Given the description of an element on the screen output the (x, y) to click on. 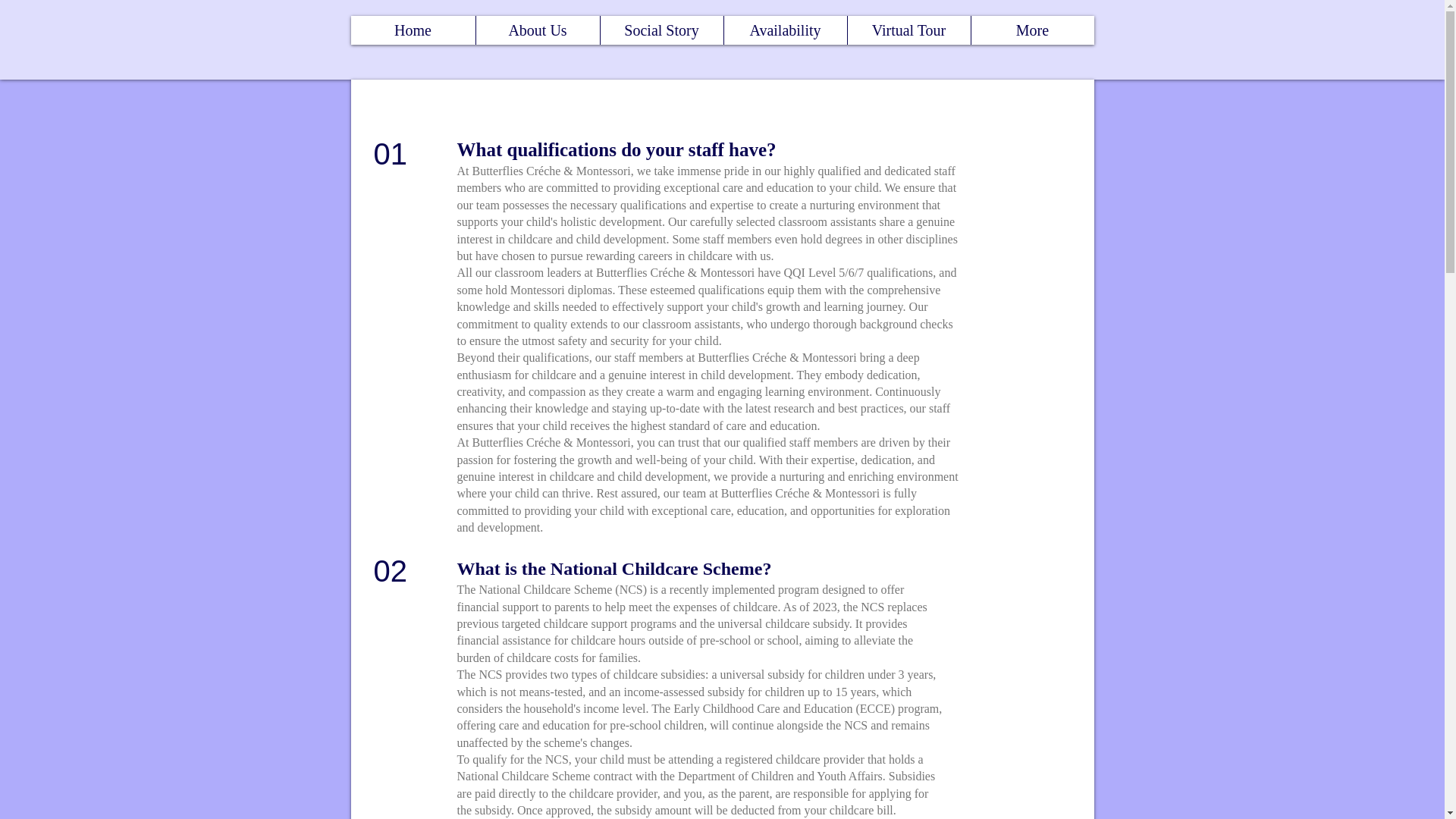
Virtual Tour (909, 30)
Availability (784, 30)
Social Story (661, 30)
About Us (537, 30)
Home (412, 30)
